Given the description of an element on the screen output the (x, y) to click on. 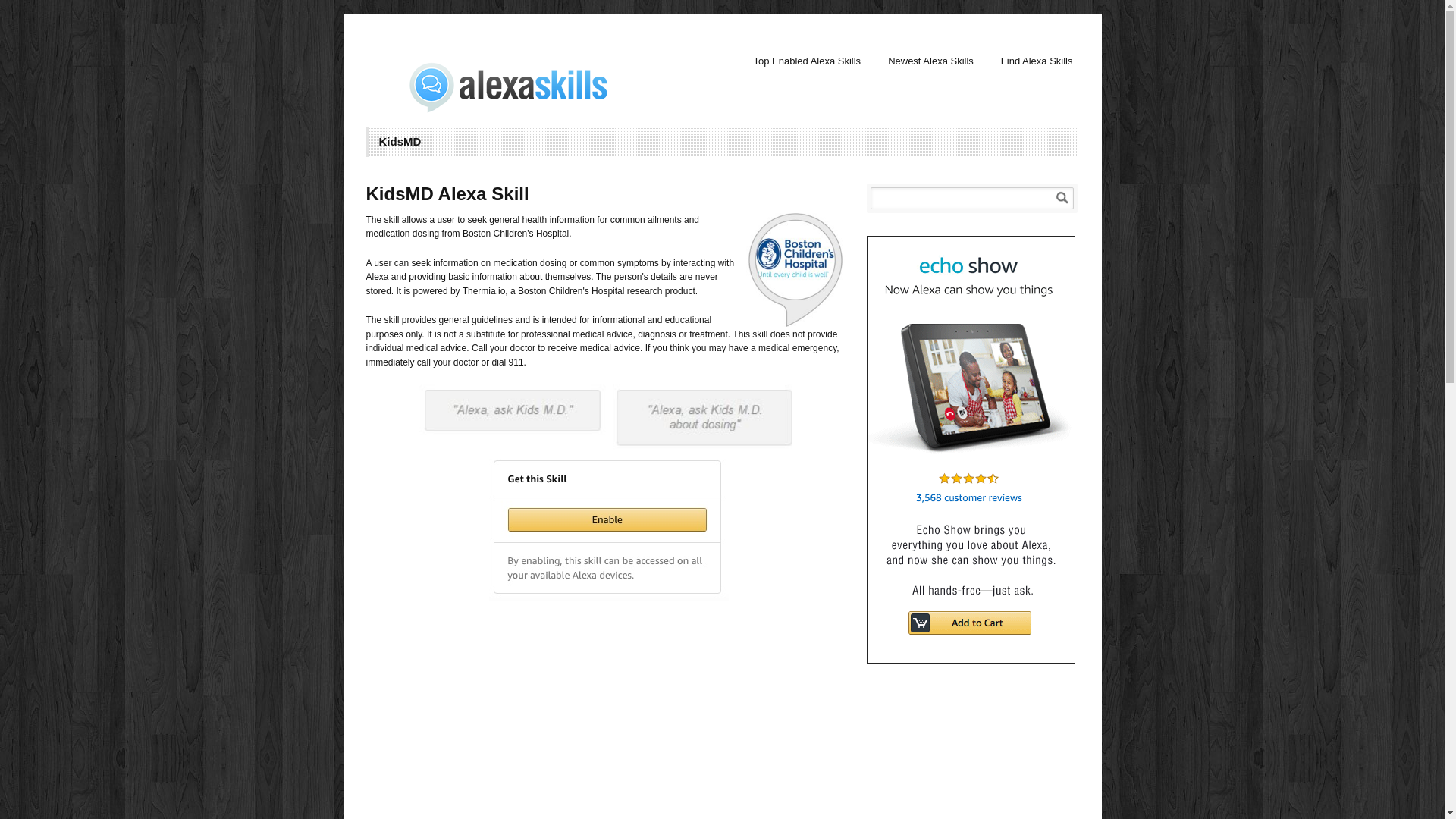
Advertisement (972, 754)
Top Enabled Alexa Skills (807, 60)
Newest Alexa Skills (931, 60)
Find Alexa Skills (1036, 60)
